Given the description of an element on the screen output the (x, y) to click on. 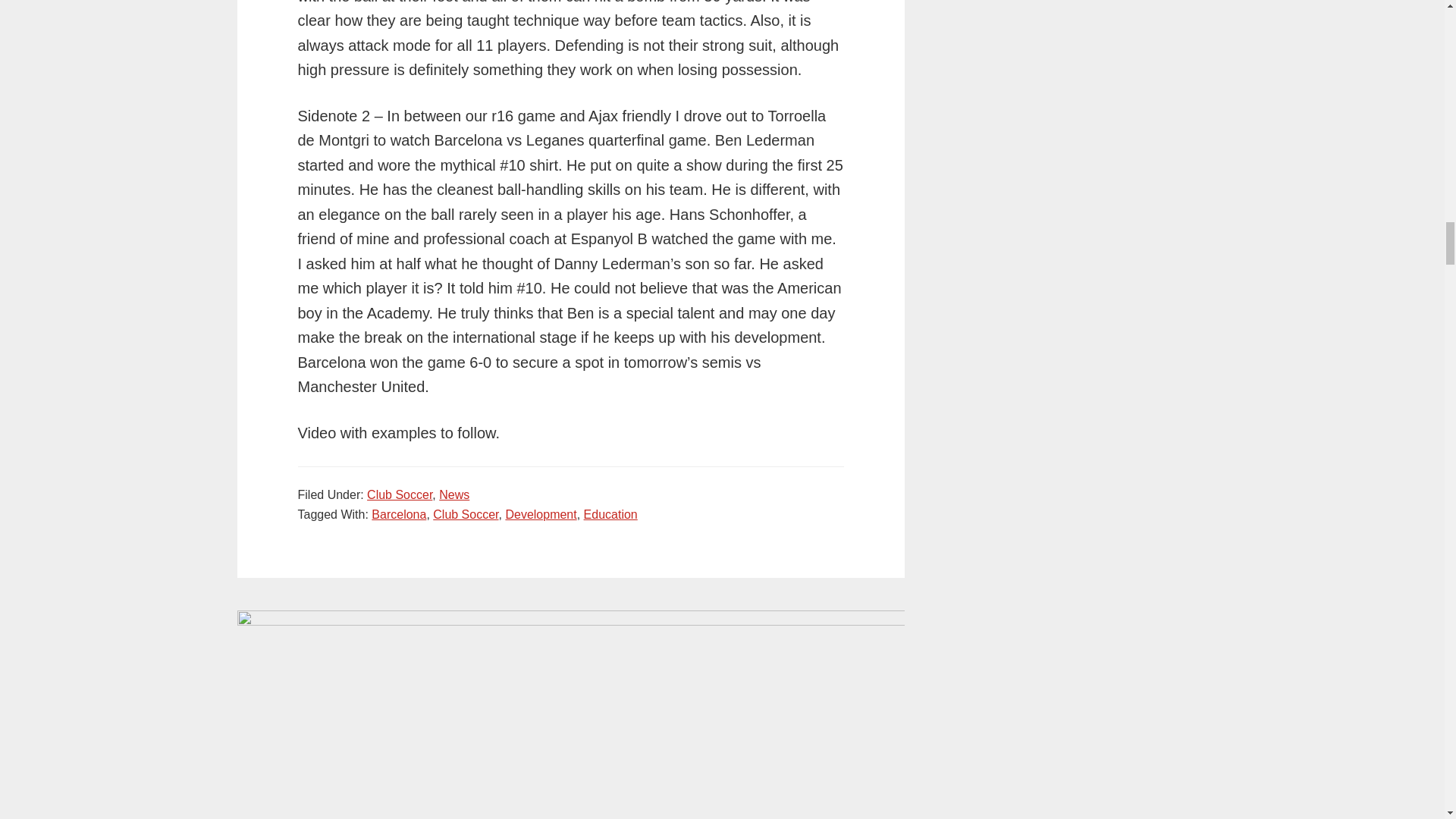
Development (540, 513)
Education (610, 513)
Barcelona (398, 513)
Club Soccer (464, 513)
Club Soccer (399, 494)
News (453, 494)
